Given the description of an element on the screen output the (x, y) to click on. 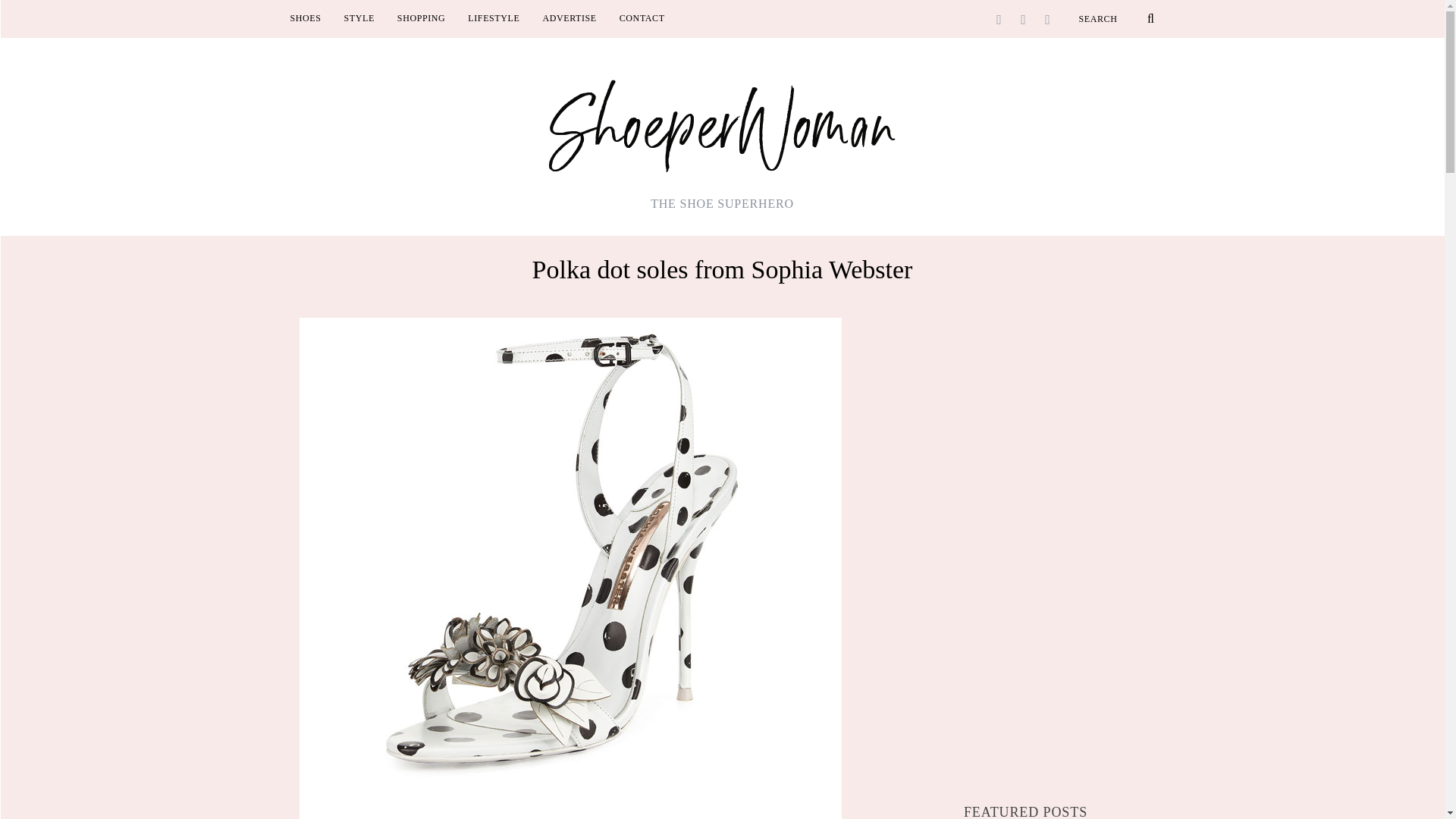
STYLE (359, 18)
ADVERTISE (569, 18)
Search (1116, 18)
LIFESTYLE (494, 18)
SHOPPING (421, 18)
SHOES (306, 18)
CONTACT (642, 18)
Advertisement (1026, 656)
